Given the description of an element on the screen output the (x, y) to click on. 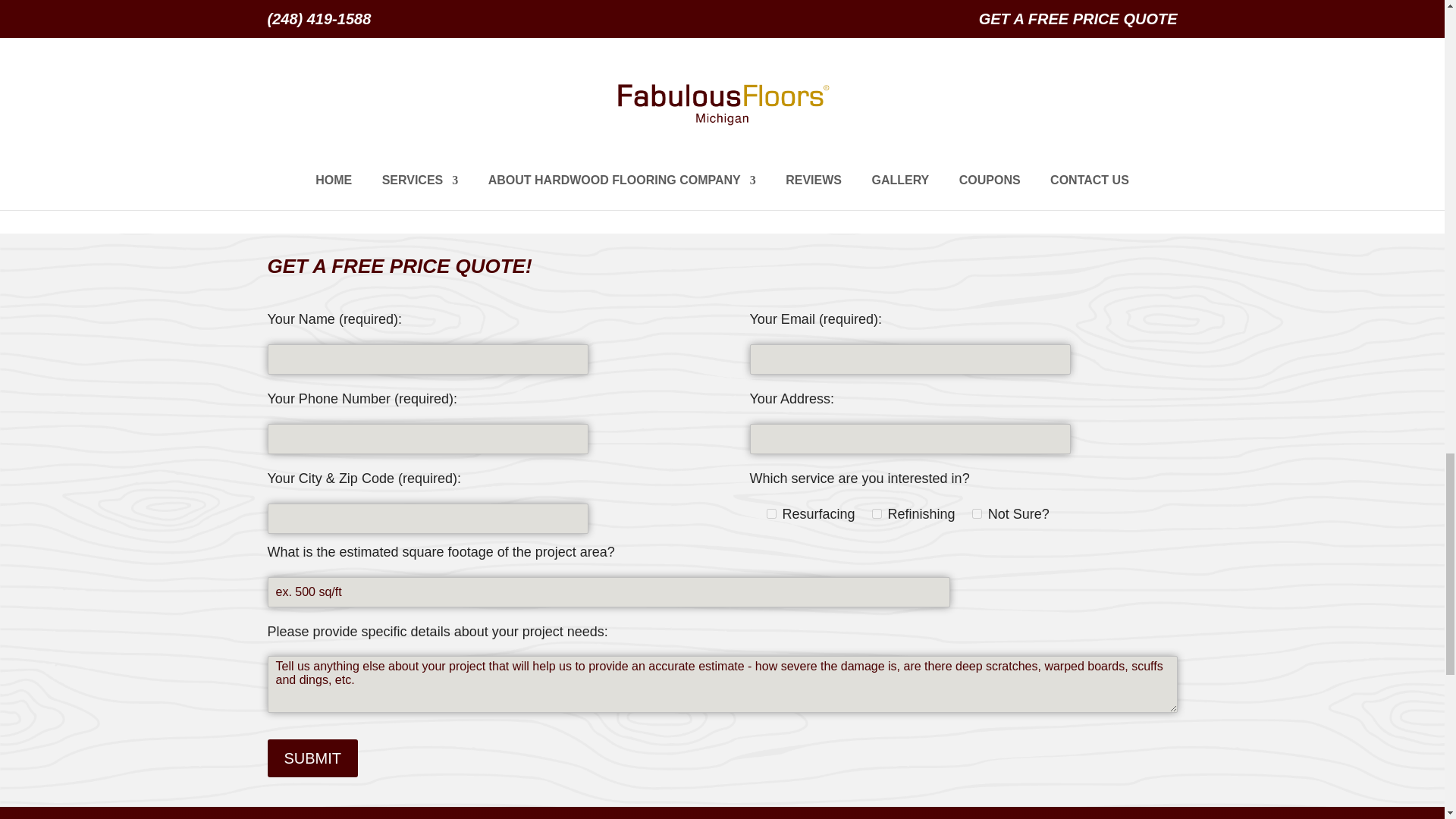
Not Sure? (976, 513)
SUBMIT (312, 758)
Resurfacing (770, 513)
Refinishing (877, 513)
SUBMIT (312, 758)
